Given the description of an element on the screen output the (x, y) to click on. 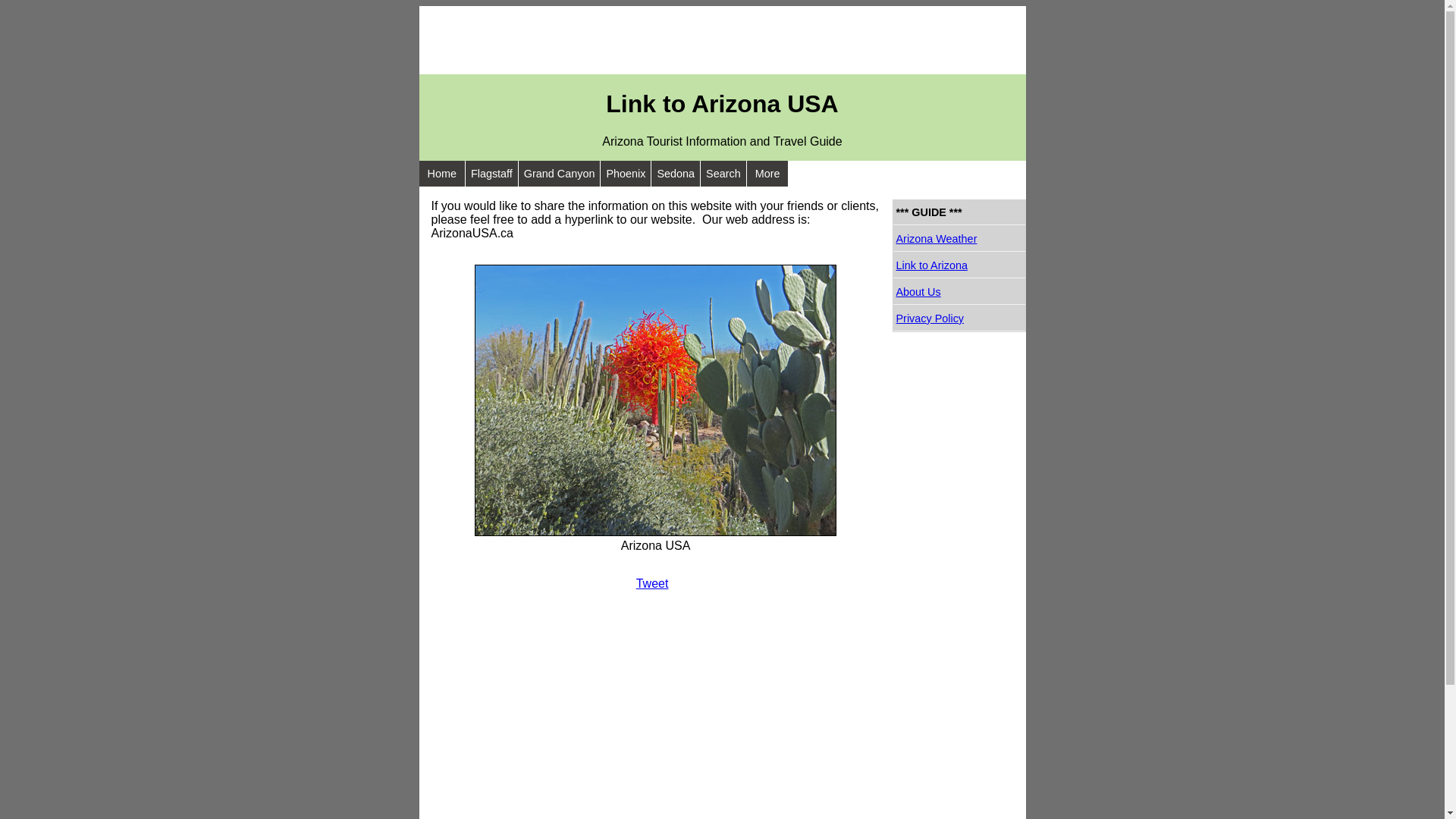
Phoenix Element type: text (625, 173)
 More  Element type: text (767, 173)
Sedona Element type: text (675, 173)
Advertisement Element type: hover (721, 40)
Grand Canyon Element type: text (559, 173)
Flagstaff Element type: text (491, 173)
About Us Element type: text (959, 291)
*** GUIDE *** Element type: text (959, 212)
Privacy Policy Element type: text (959, 318)
Search Element type: text (723, 173)
 Home  Element type: text (441, 173)
Link to Arizona Element type: text (959, 265)
Arizona Weather Element type: text (959, 238)
Tweet Element type: text (652, 583)
